Given the description of an element on the screen output the (x, y) to click on. 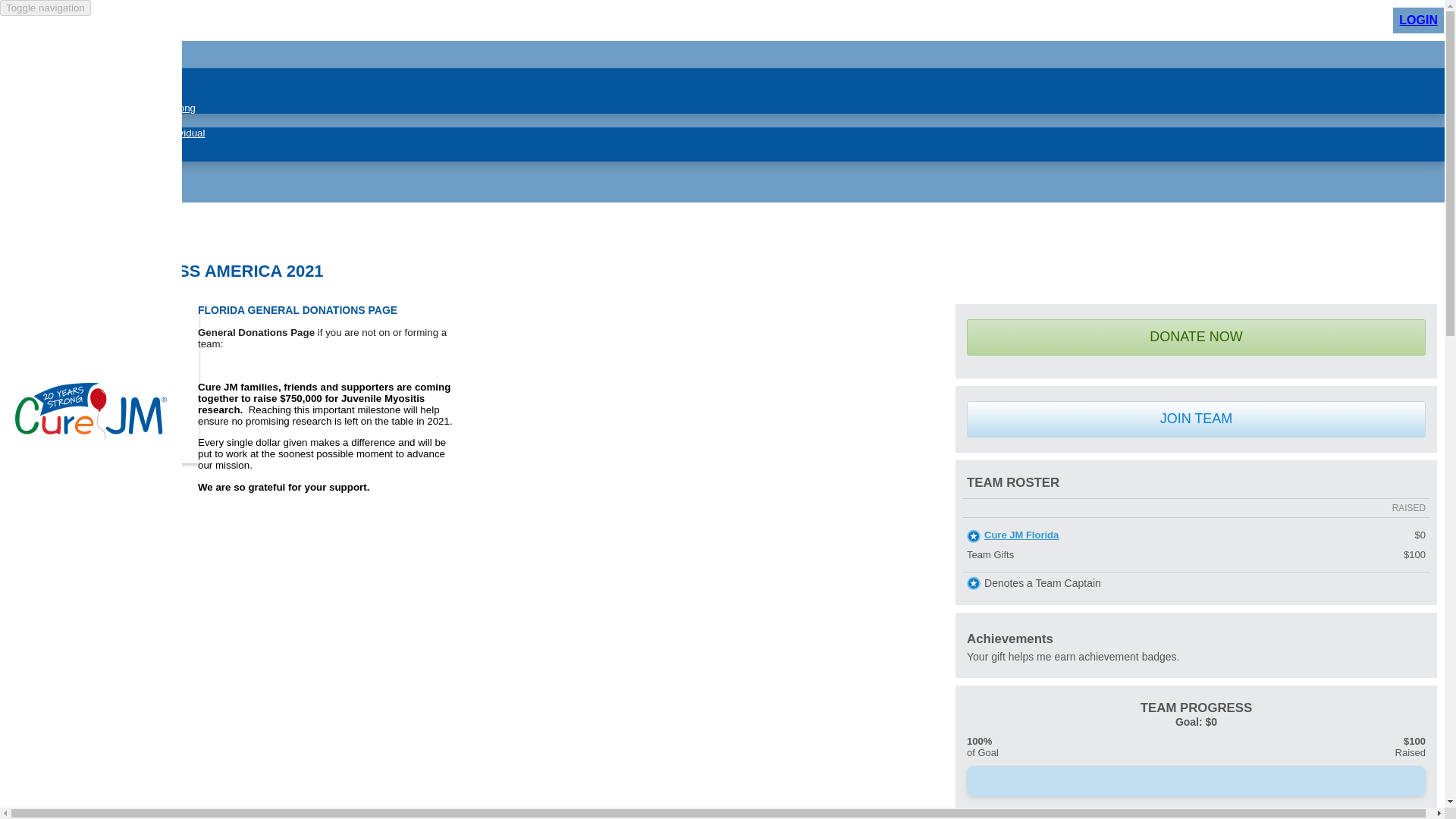
About Event (88, 73)
Participant Guide Walk Strong (128, 107)
STATE WALKS (72, 195)
EVENT INFO (66, 60)
HOME (48, 47)
Cure JM Foundation (90, 434)
Cure JM Florida (1021, 534)
Donate in Honor of an Individual (133, 132)
DONATE NOW (1195, 337)
Donate in Honor of a Team (120, 143)
SPONSORS (64, 167)
Make a General Donation (118, 155)
Sponsor Flyer (92, 96)
DONATE (55, 119)
How to Fundraise (100, 84)
